Given the description of an element on the screen output the (x, y) to click on. 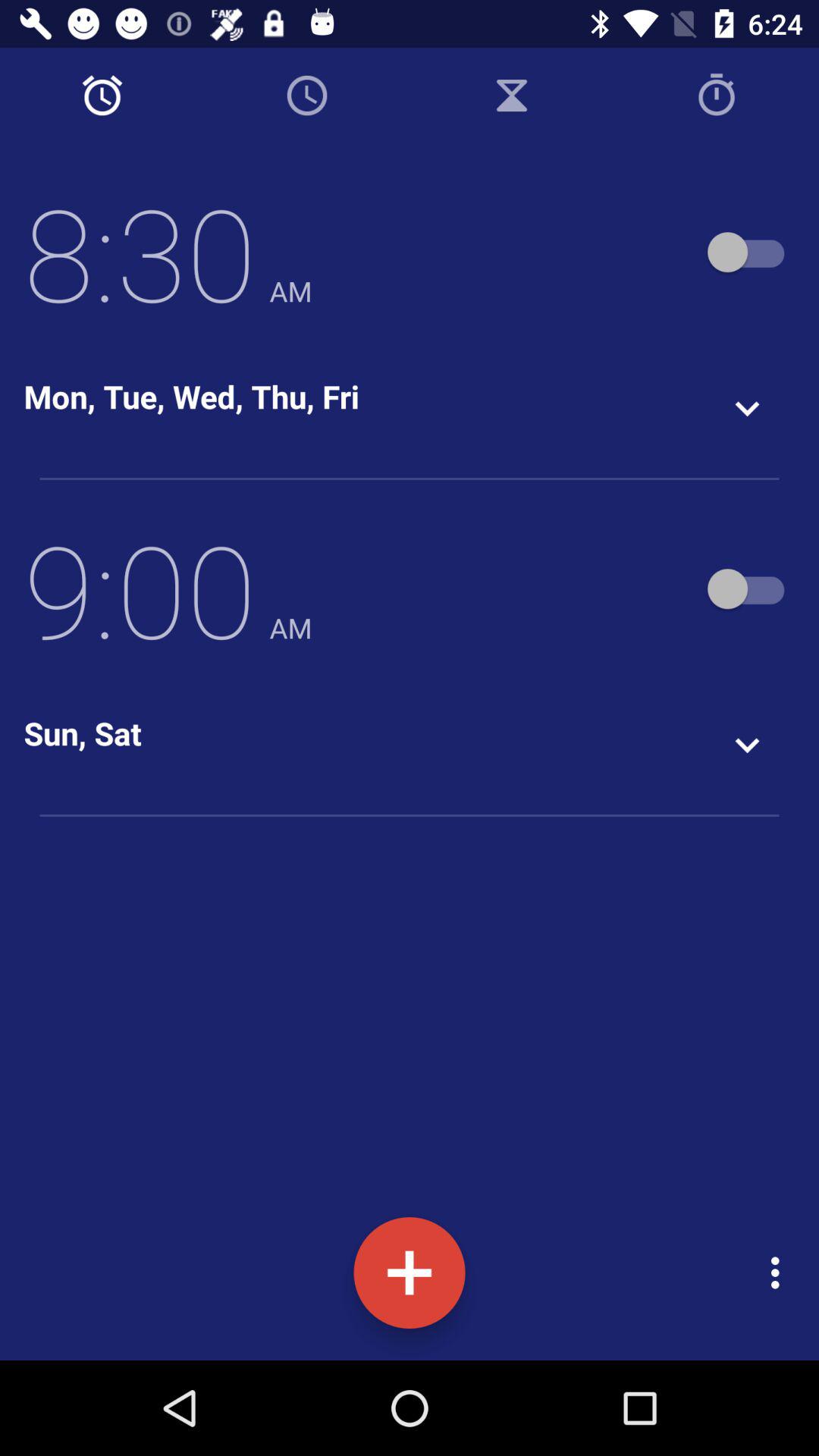
select item at the bottom right corner (779, 1272)
